Given the description of an element on the screen output the (x, y) to click on. 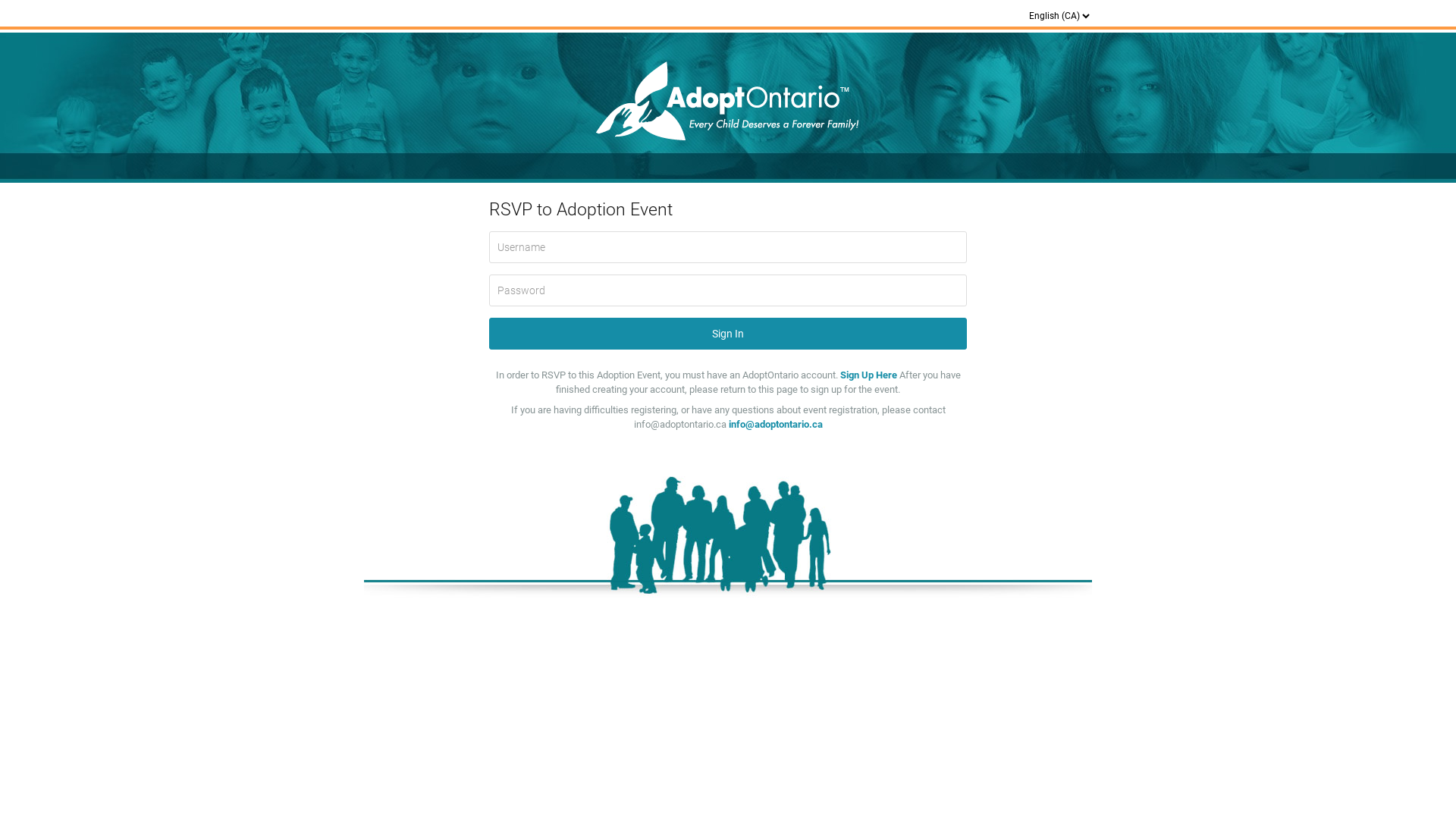
Sign Up Here Element type: text (869, 374)
Sign In Element type: text (727, 333)
info@adoptontario.ca Element type: text (775, 423)
